Given the description of an element on the screen output the (x, y) to click on. 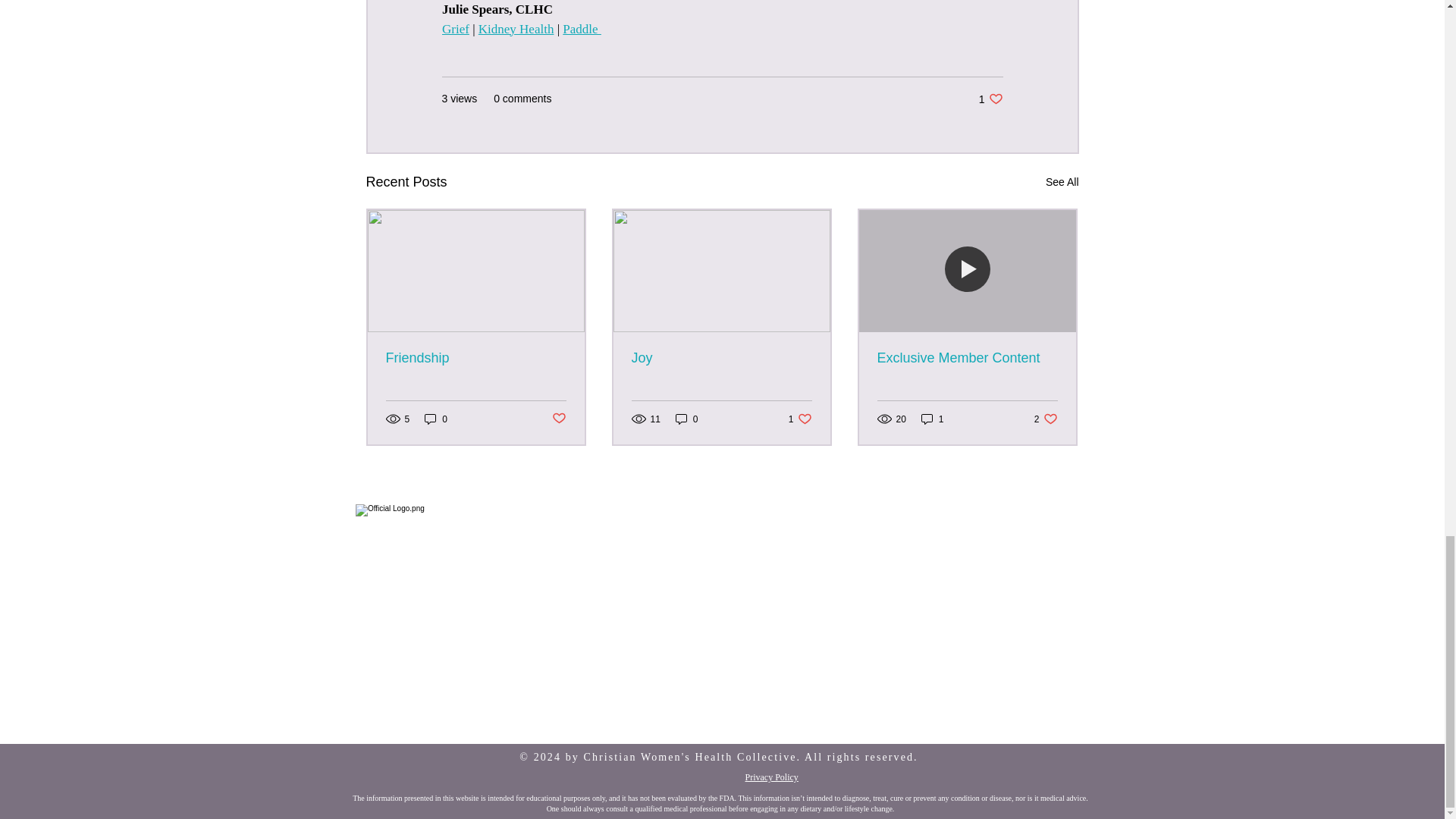
0 (435, 418)
Post not marked as liked (800, 418)
Exclusive Member Content (558, 418)
Paddle  (1045, 418)
See All (966, 358)
Friendship (581, 29)
0 (1061, 182)
Grief (475, 358)
Joy (990, 98)
1 (687, 418)
Kidney Health (454, 29)
